Given the description of an element on the screen output the (x, y) to click on. 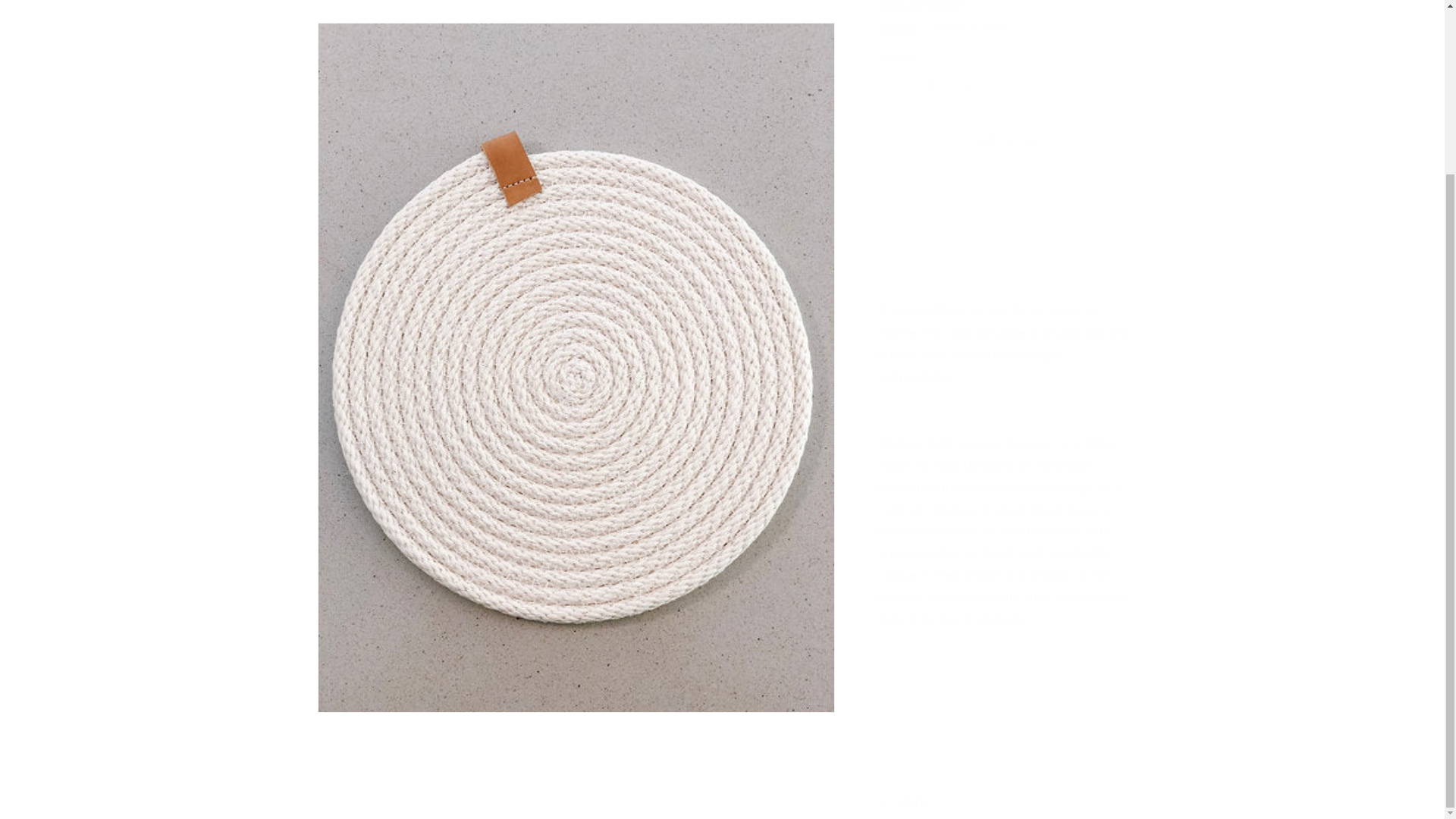
1 (931, 73)
